Given the description of an element on the screen output the (x, y) to click on. 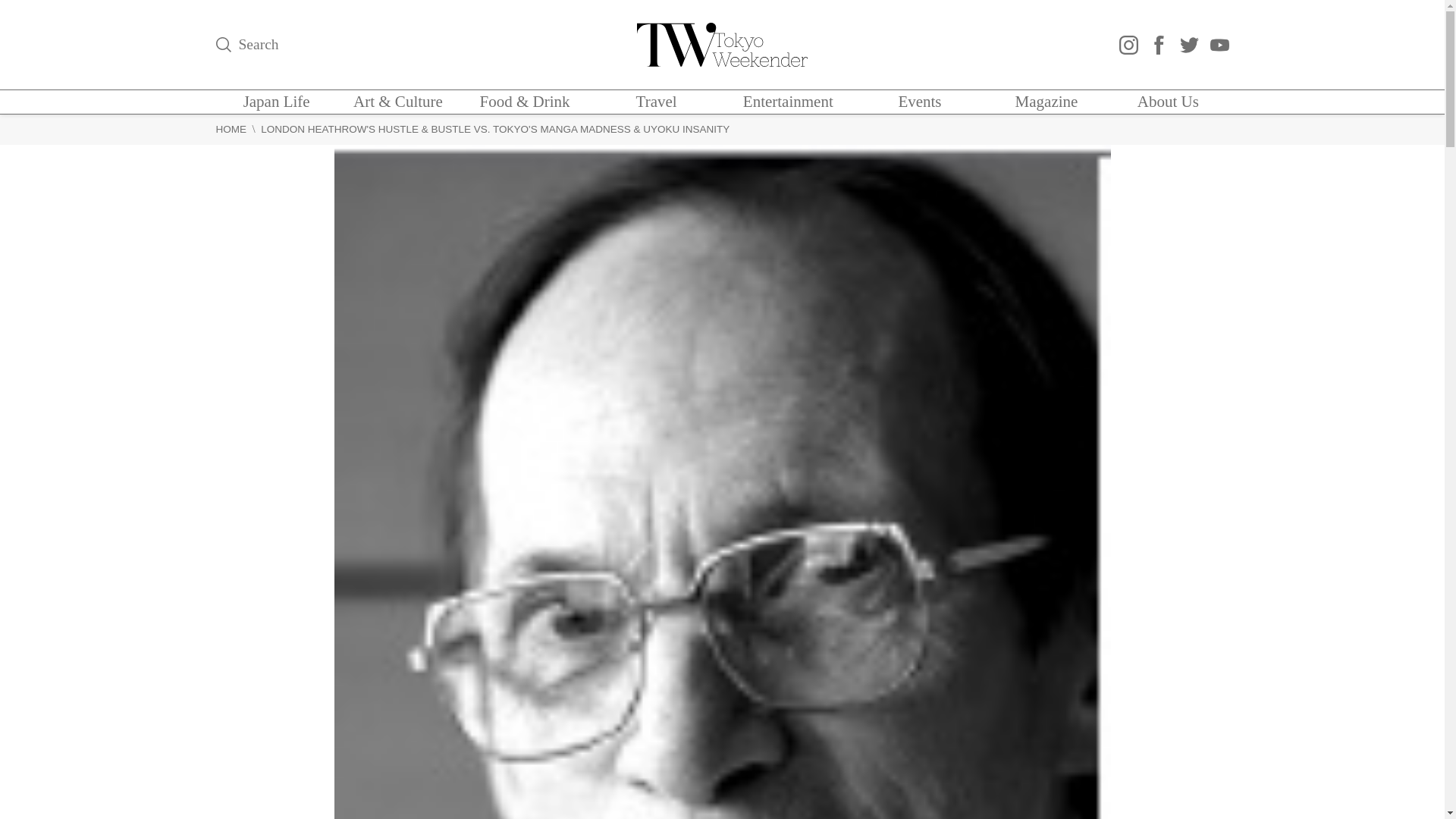
About Us (1167, 101)
Entertainment (787, 101)
Japan Life (276, 101)
Travel (656, 101)
Magazine (1046, 101)
Events (919, 101)
